Given the description of an element on the screen output the (x, y) to click on. 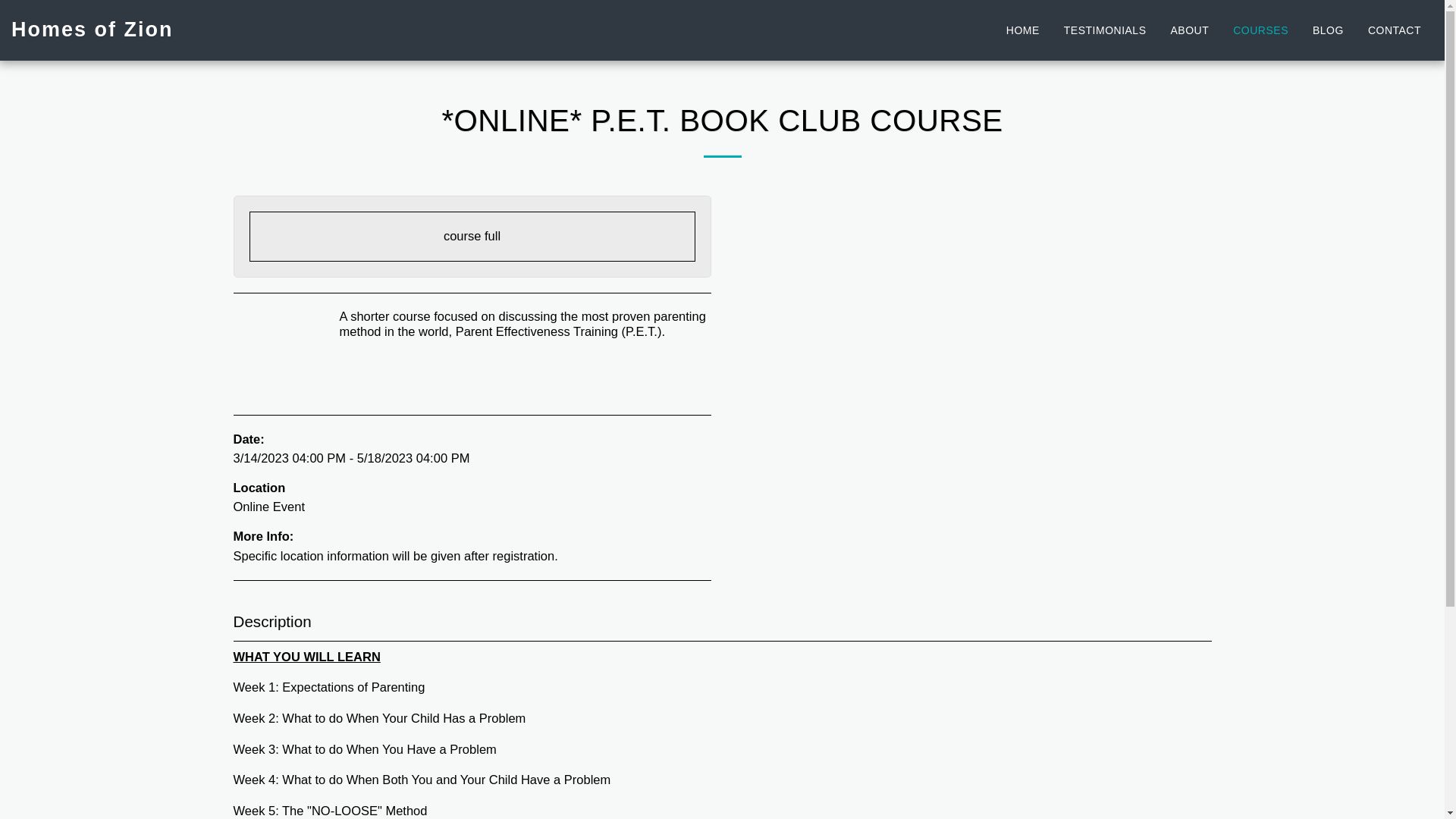
COURSES (1260, 29)
Homes of Zion (92, 30)
TESTIMONIALS (1104, 29)
HOME (1022, 29)
CONTACT (1394, 29)
BLOG (1328, 29)
ABOUT (1189, 29)
